Given the description of an element on the screen output the (x, y) to click on. 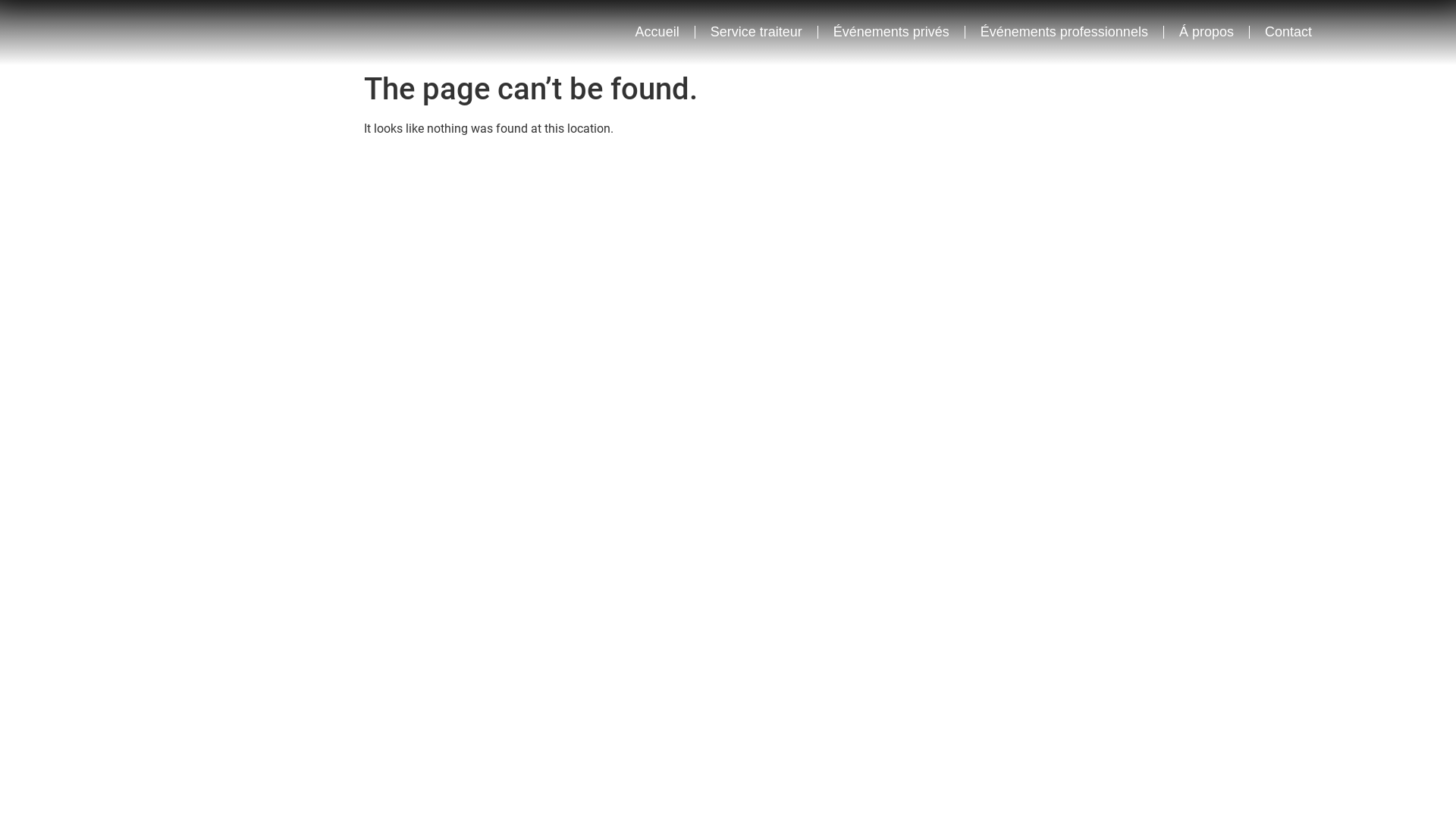
Accueil Element type: text (657, 31)
0477 20 62 93 Element type: text (578, 332)
Service traiteur Element type: text (756, 31)
Contact Element type: text (1288, 31)
